Given the description of an element on the screen output the (x, y) to click on. 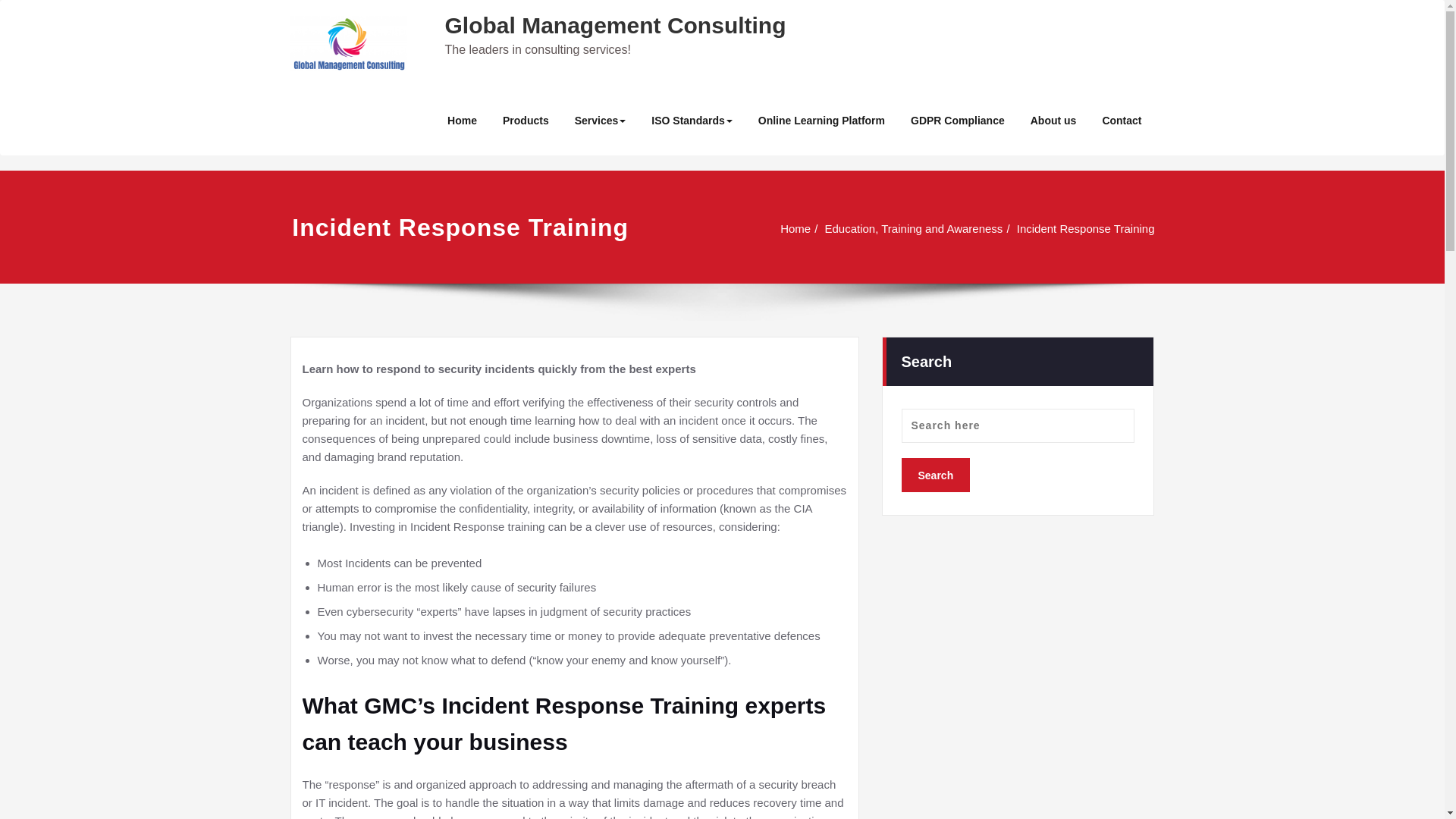
Services (600, 120)
Global Management Consulting (615, 25)
About us (1053, 120)
Contact (1121, 120)
Search (935, 474)
Online Learning Platform (821, 120)
Search (935, 474)
Products (525, 120)
Incident Response Training (1085, 228)
ISO Standards (691, 120)
Search (935, 474)
Education, Training and Awareness (913, 228)
Home (795, 228)
GDPR Compliance (957, 120)
